Given the description of an element on the screen output the (x, y) to click on. 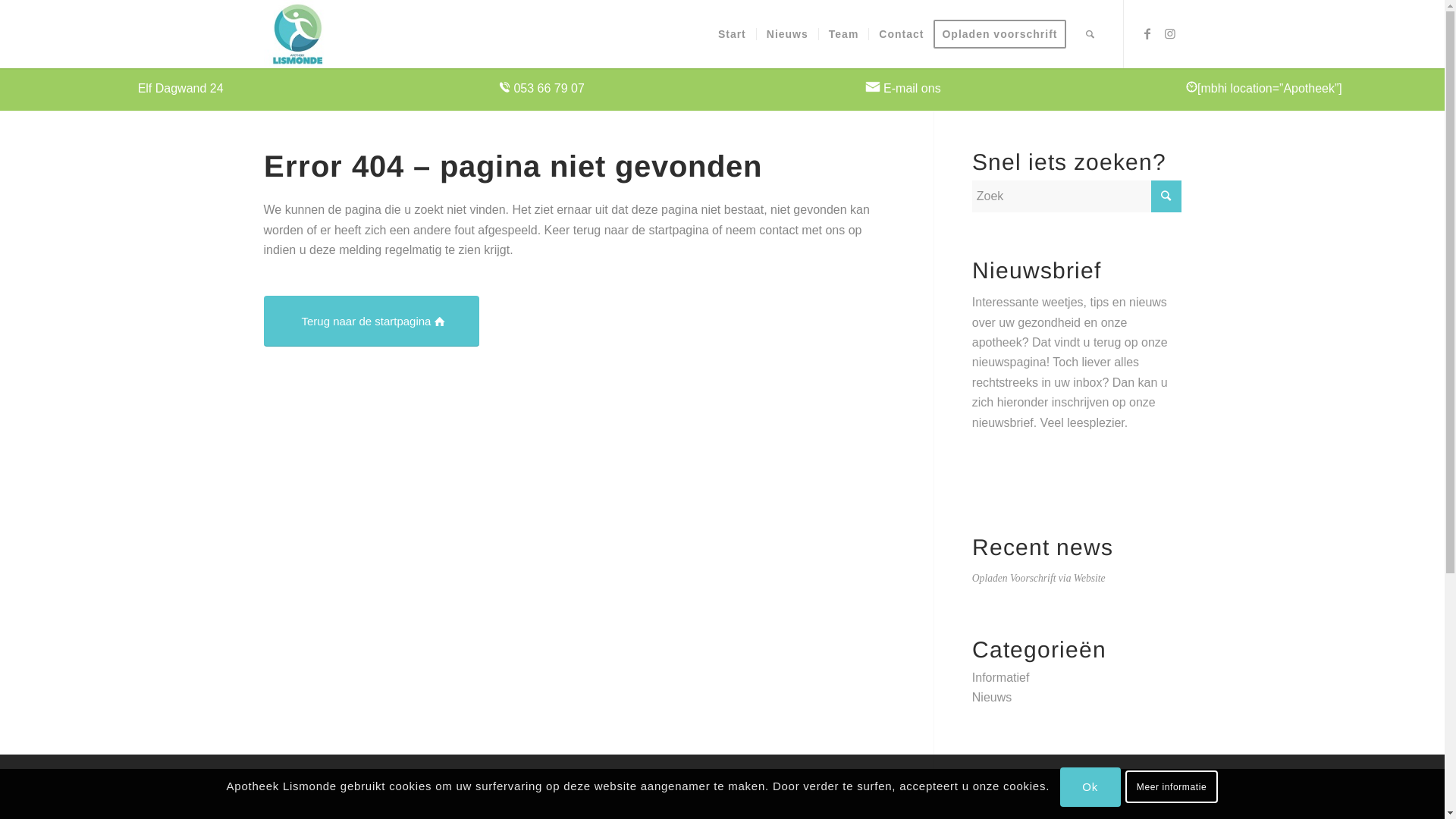
Contact Element type: text (900, 34)
Facebook Element type: hover (1146, 32)
Nieuws Element type: text (991, 696)
Nieuws Element type: text (787, 34)
Opladen Voorschrift via Website Element type: text (1038, 577)
Start Element type: text (732, 34)
Meer informatie Element type: text (1171, 786)
Informatief Element type: text (1000, 677)
Terug naar de startpagina Element type: text (371, 320)
Ok Element type: text (1090, 786)
Opladen voorschrift Element type: text (1004, 34)
Team Element type: text (843, 34)
Instagram Element type: hover (1169, 32)
